Given the description of an element on the screen output the (x, y) to click on. 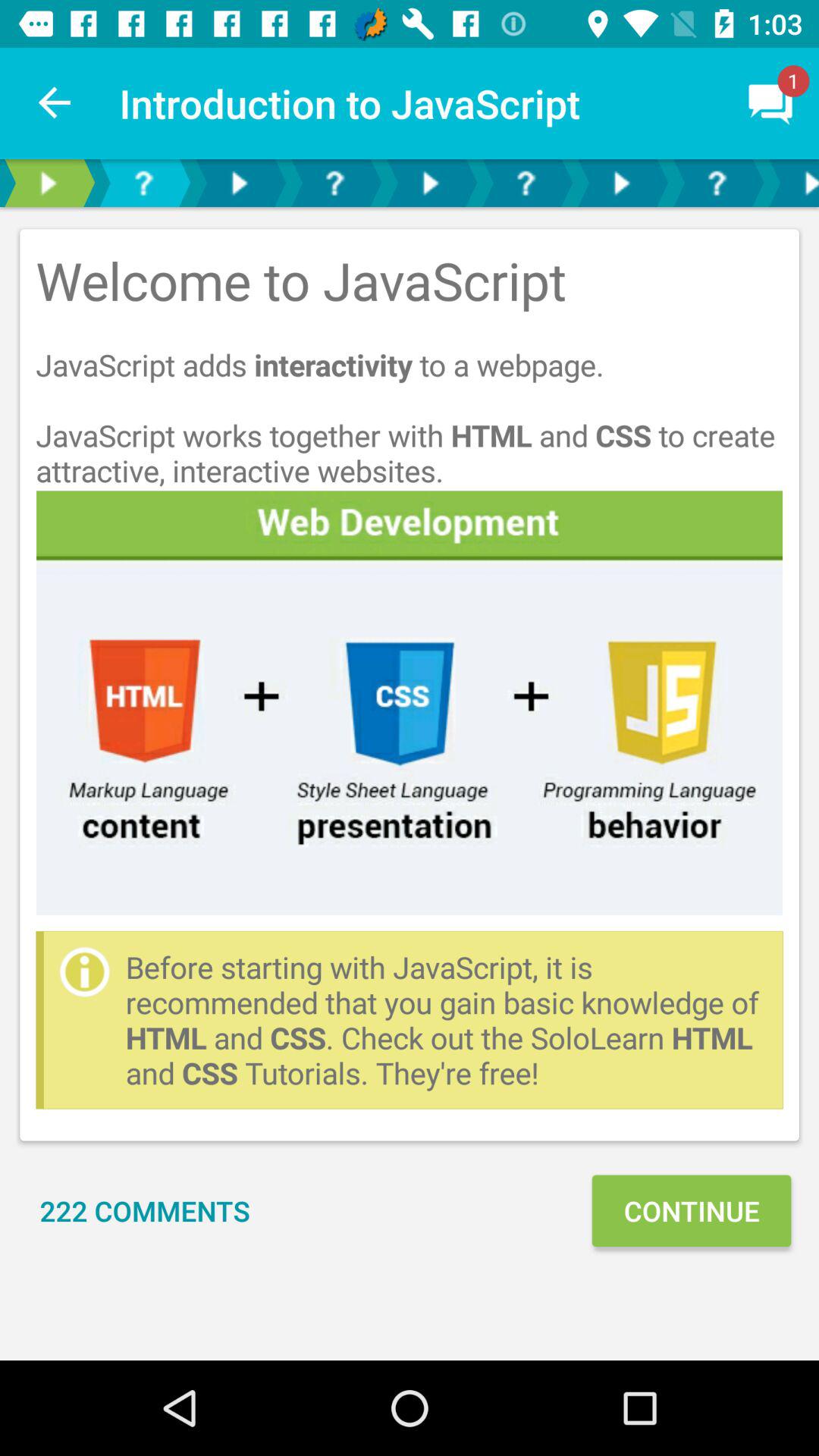
open the item to the right of the 222 comments (691, 1210)
